Given the description of an element on the screen output the (x, y) to click on. 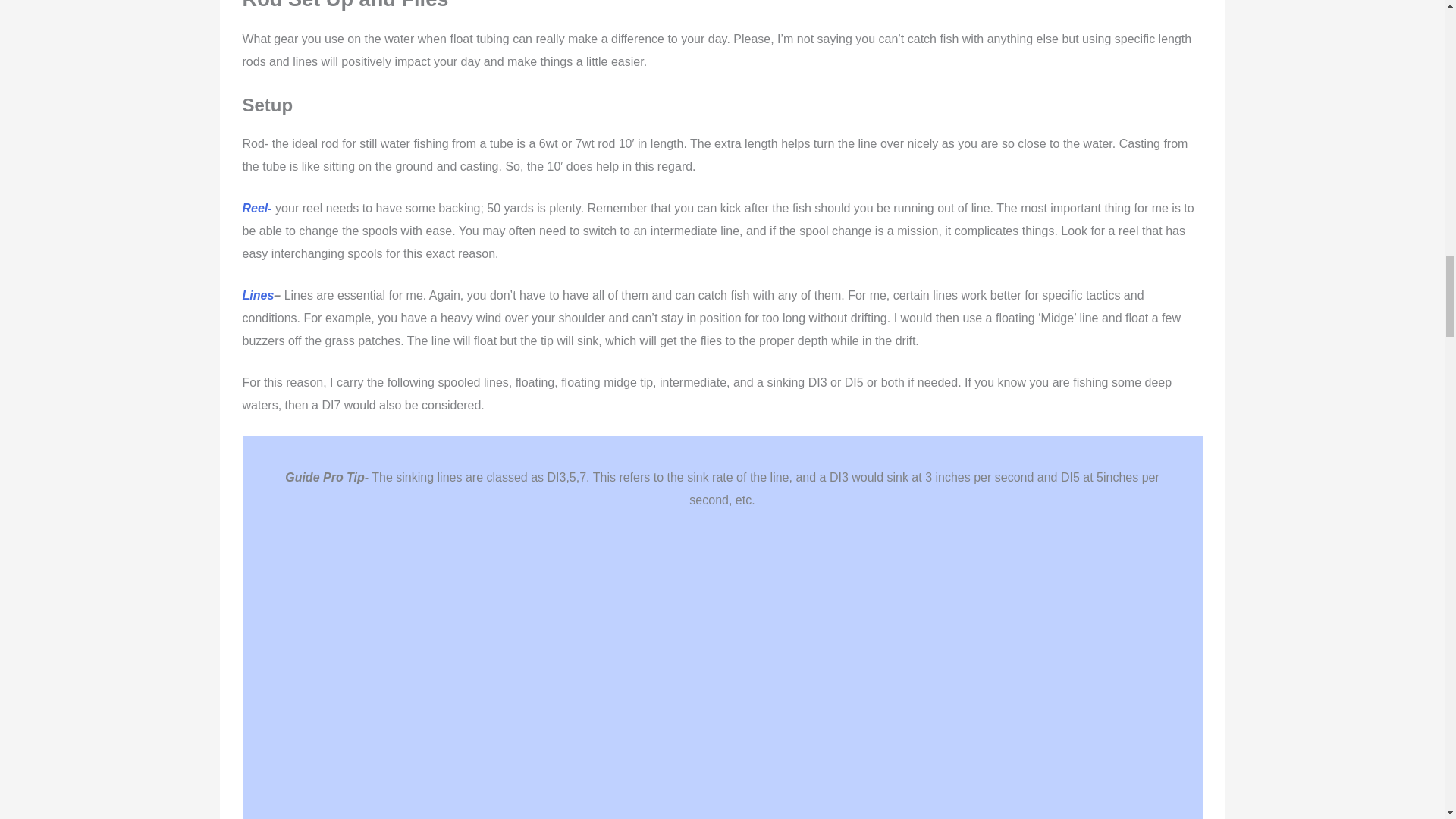
Reel- (257, 207)
Lines (259, 295)
